Given the description of an element on the screen output the (x, y) to click on. 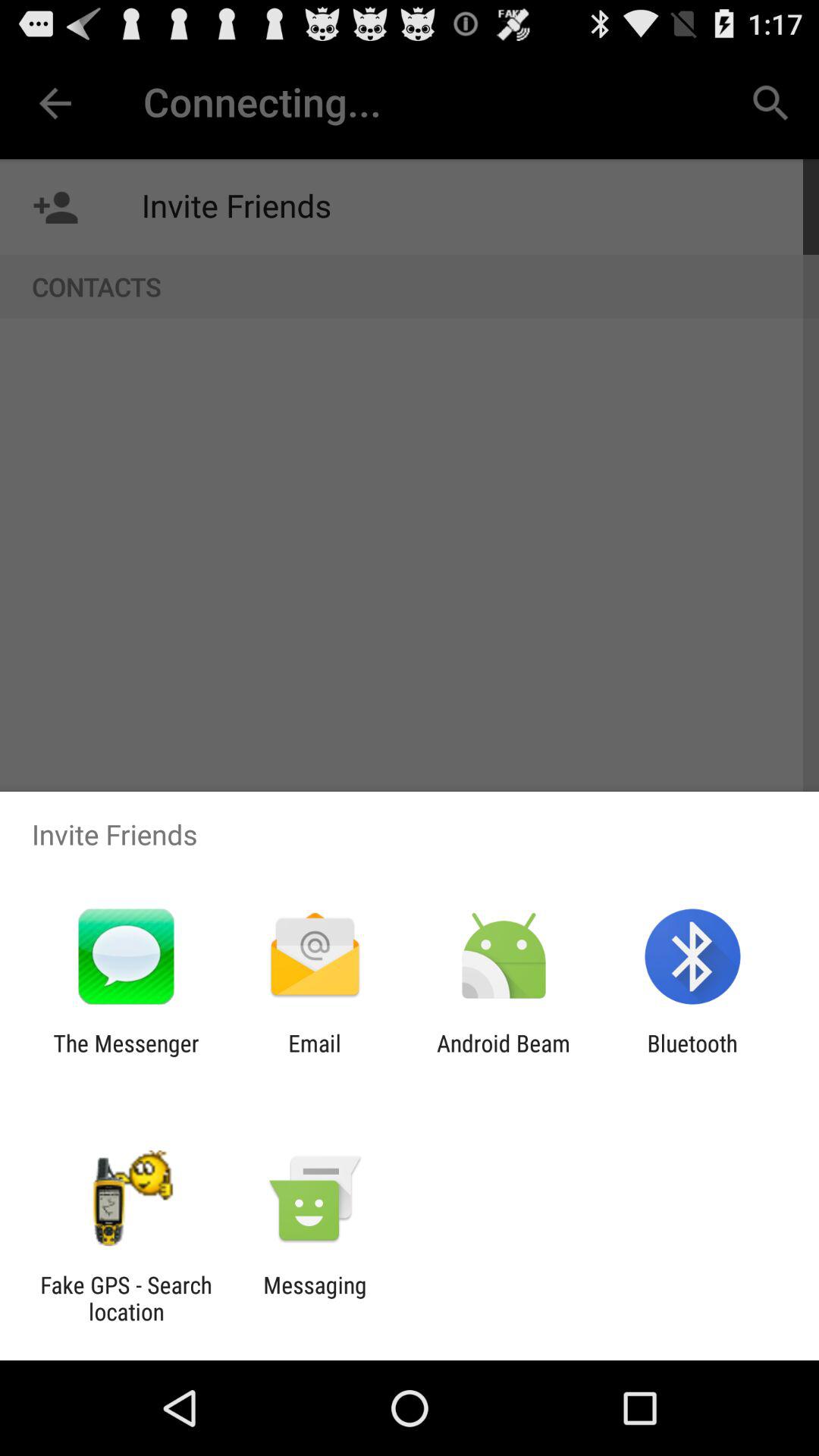
turn on app to the right of the fake gps search icon (314, 1298)
